Given the description of an element on the screen output the (x, y) to click on. 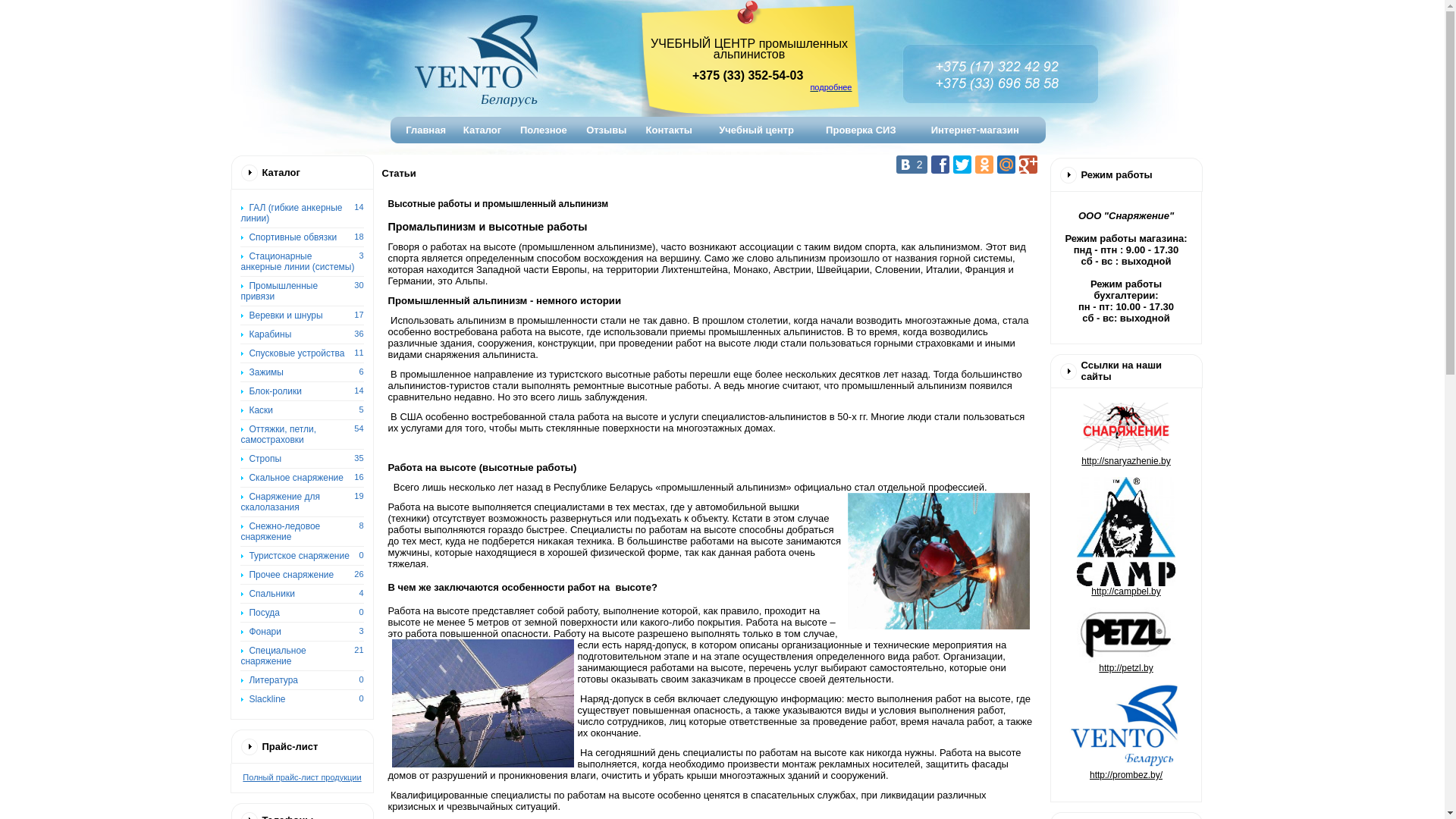
Slackline Element type: text (262, 698)
Facebook Element type: hover (940, 164)
http://campbel.by Element type: text (1125, 596)
Google Plus Element type: hover (1028, 164)
  Element type: text (473, 74)
http://petzl.by


http://prombez.by/ Element type: text (1126, 722)
http://snaryazhenie.by Element type: text (1125, 442)
Twitter Element type: hover (961, 164)
2 Element type: text (911, 164)
